Given the description of an element on the screen output the (x, y) to click on. 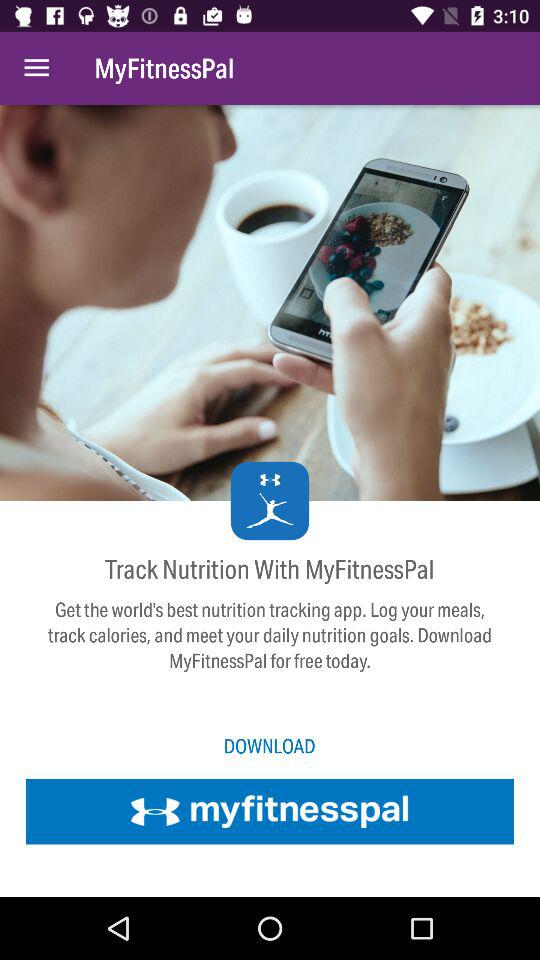
choose item to the left of myfitnesspal item (36, 68)
